Given the description of an element on the screen output the (x, y) to click on. 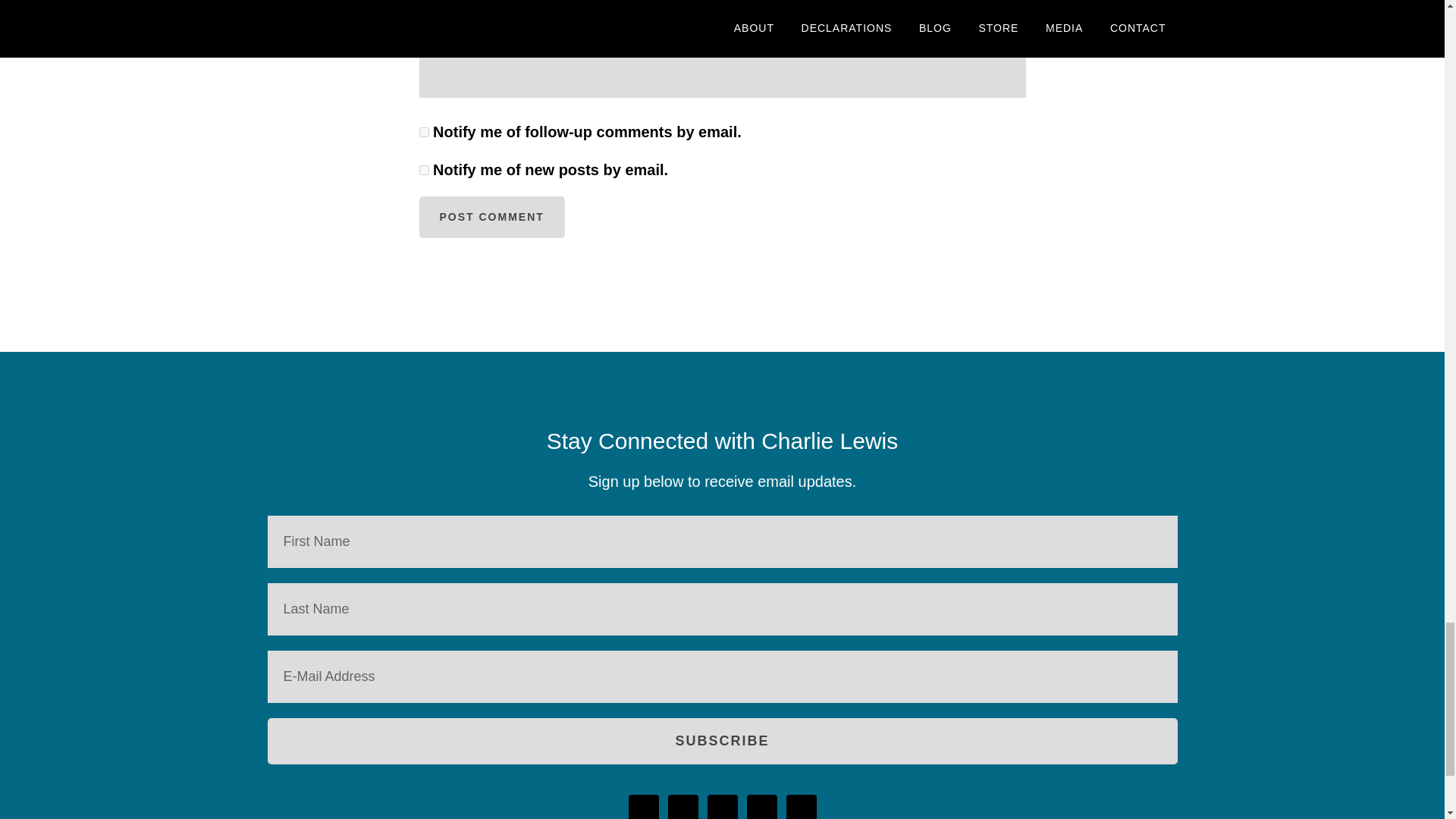
subscribe (423, 132)
subscribe (423, 170)
Subscribe (721, 741)
Post Comment (491, 217)
Post Comment (491, 217)
Subscribe (721, 741)
